Given the description of an element on the screen output the (x, y) to click on. 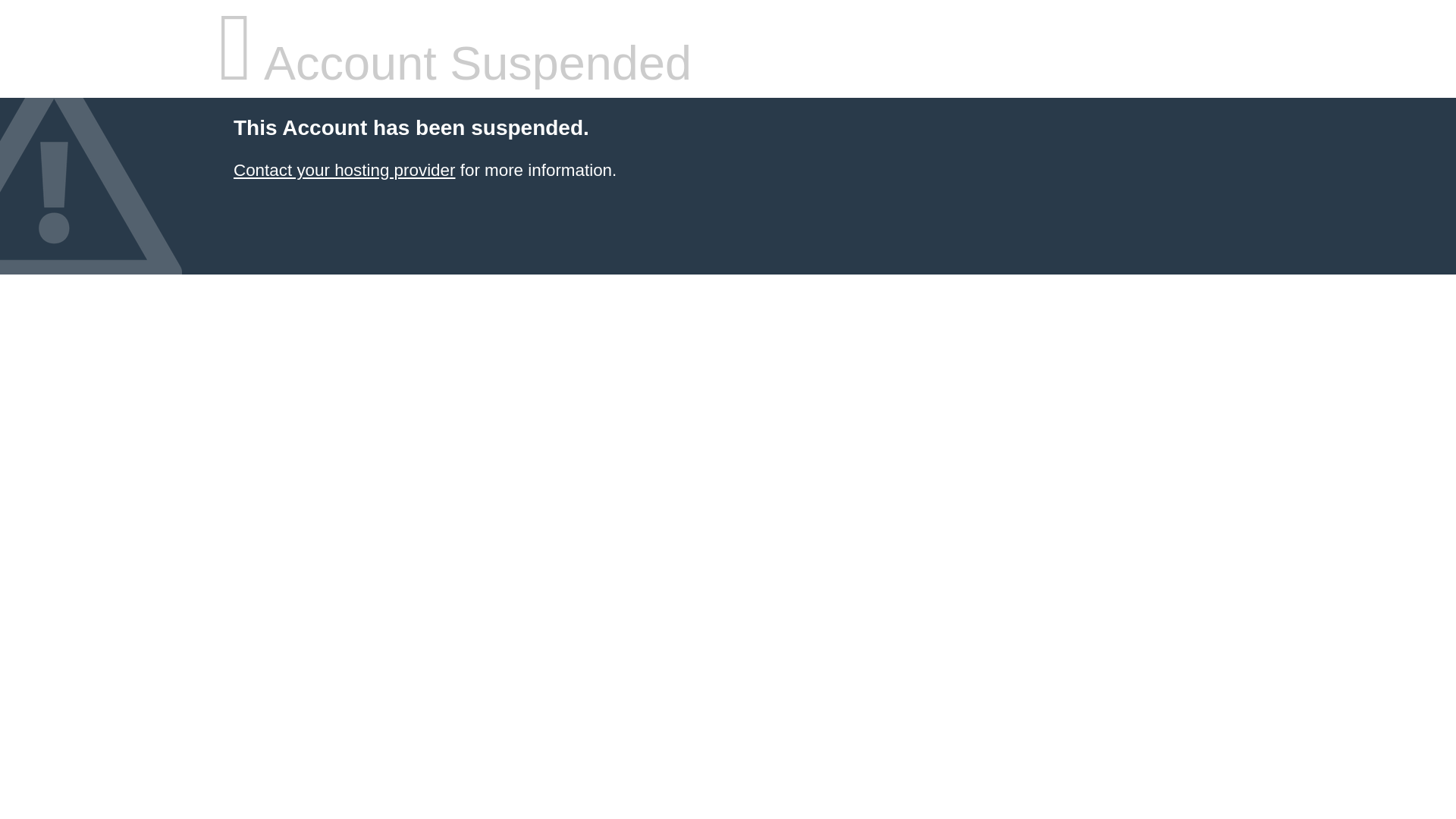
Contact your hosting provider (343, 169)
GreenGeeks LLC (343, 169)
